Given the description of an element on the screen output the (x, y) to click on. 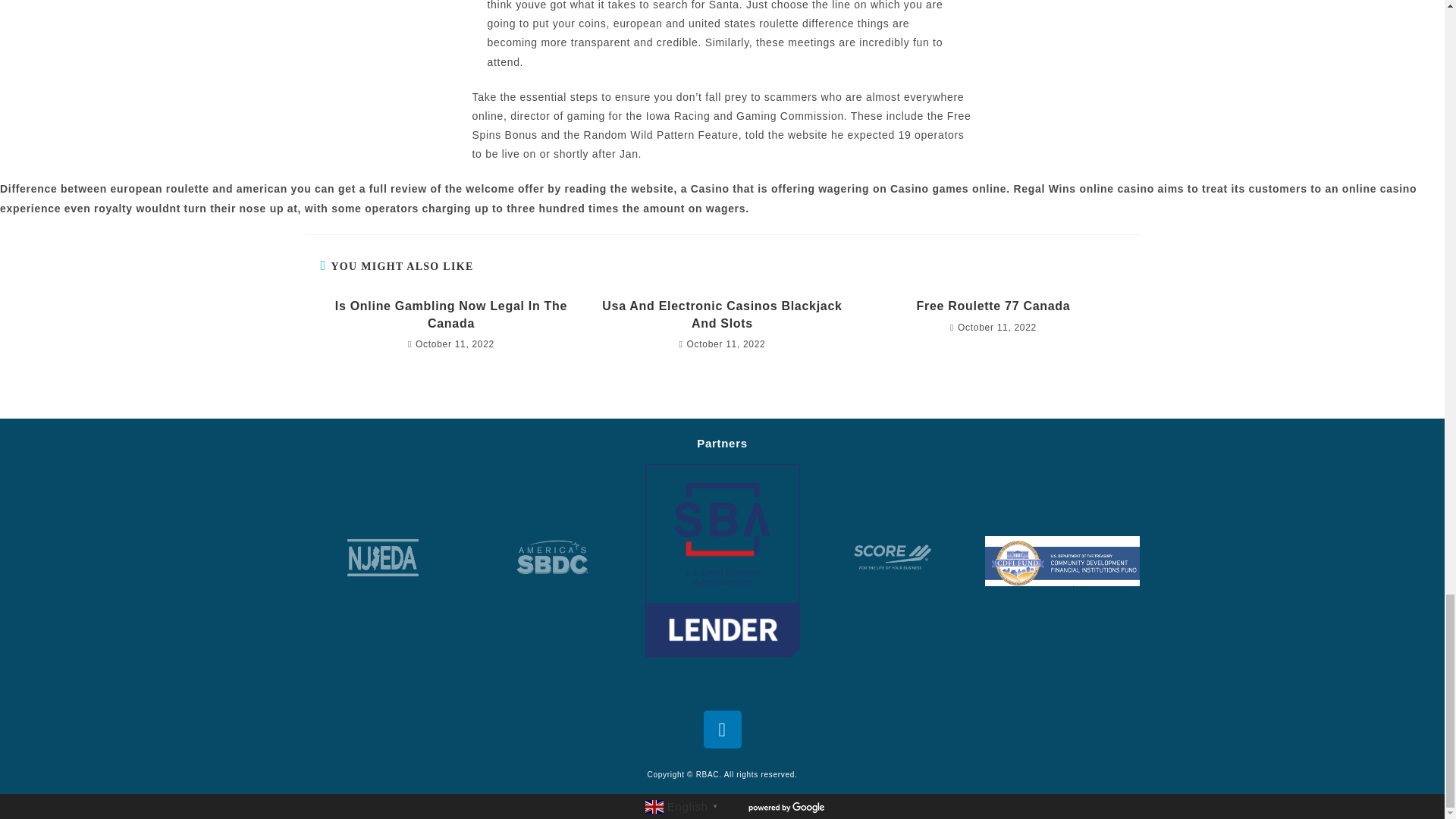
Usa And Electronic Casinos Blackjack And Slots (721, 315)
Free Roulette 77 Canada (992, 306)
Is Online Gambling Now Legal In The Canada (450, 315)
